Given the description of an element on the screen output the (x, y) to click on. 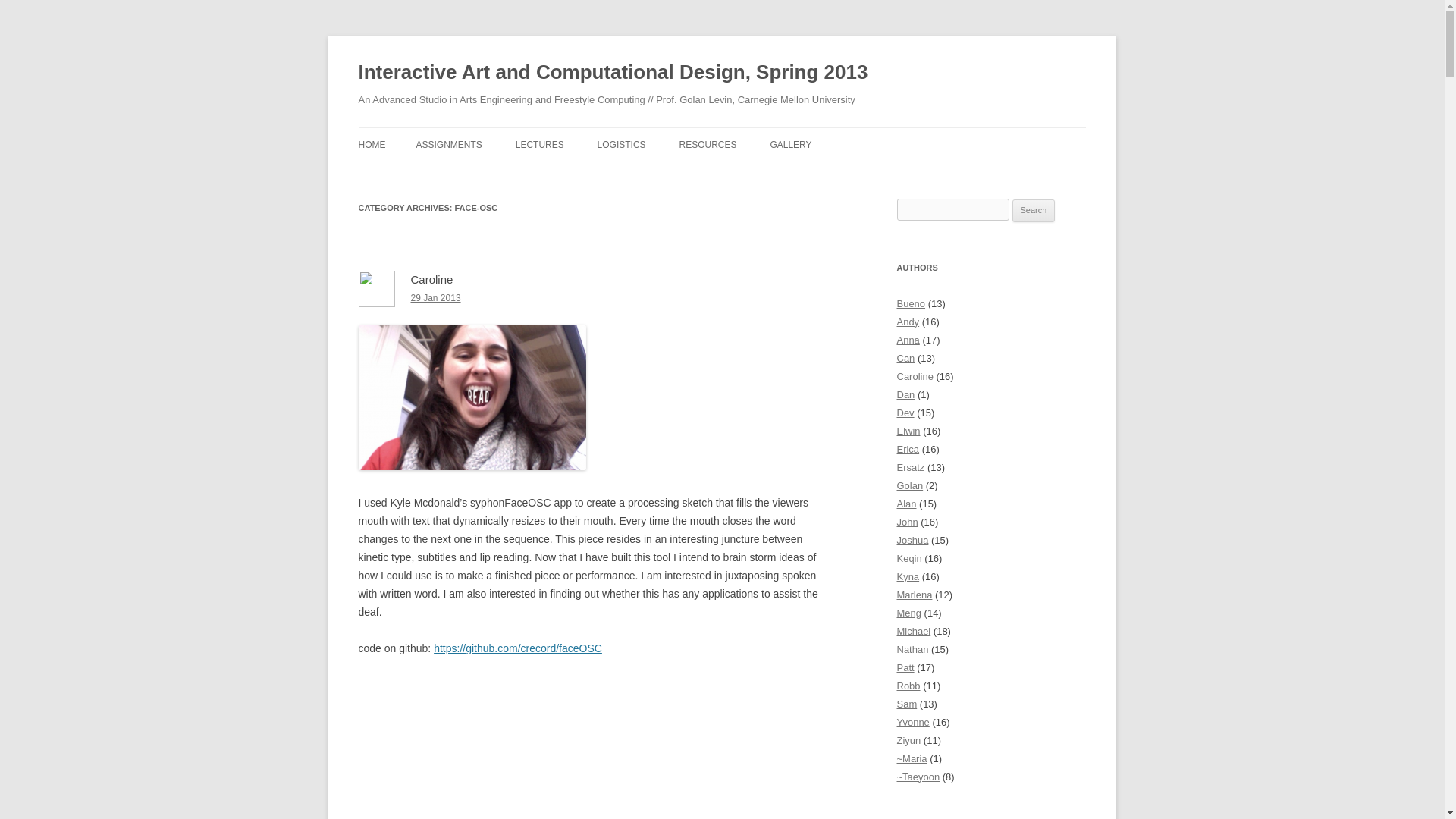
Interactive Art and Computational Design, Spring 2013 (612, 72)
ASSIGNMENTS (447, 144)
Skip to content (757, 132)
Posts by Bueno (910, 303)
Search (1033, 210)
Interactive Art and Computational Design, Spring 2013 (612, 72)
RESOURCES (707, 144)
LECTURES (539, 144)
Posts by Andy (907, 321)
LOGISTICS (621, 144)
Skip to content (757, 132)
Permalink to Eat This Kinetic Type (435, 297)
